Given the description of an element on the screen output the (x, y) to click on. 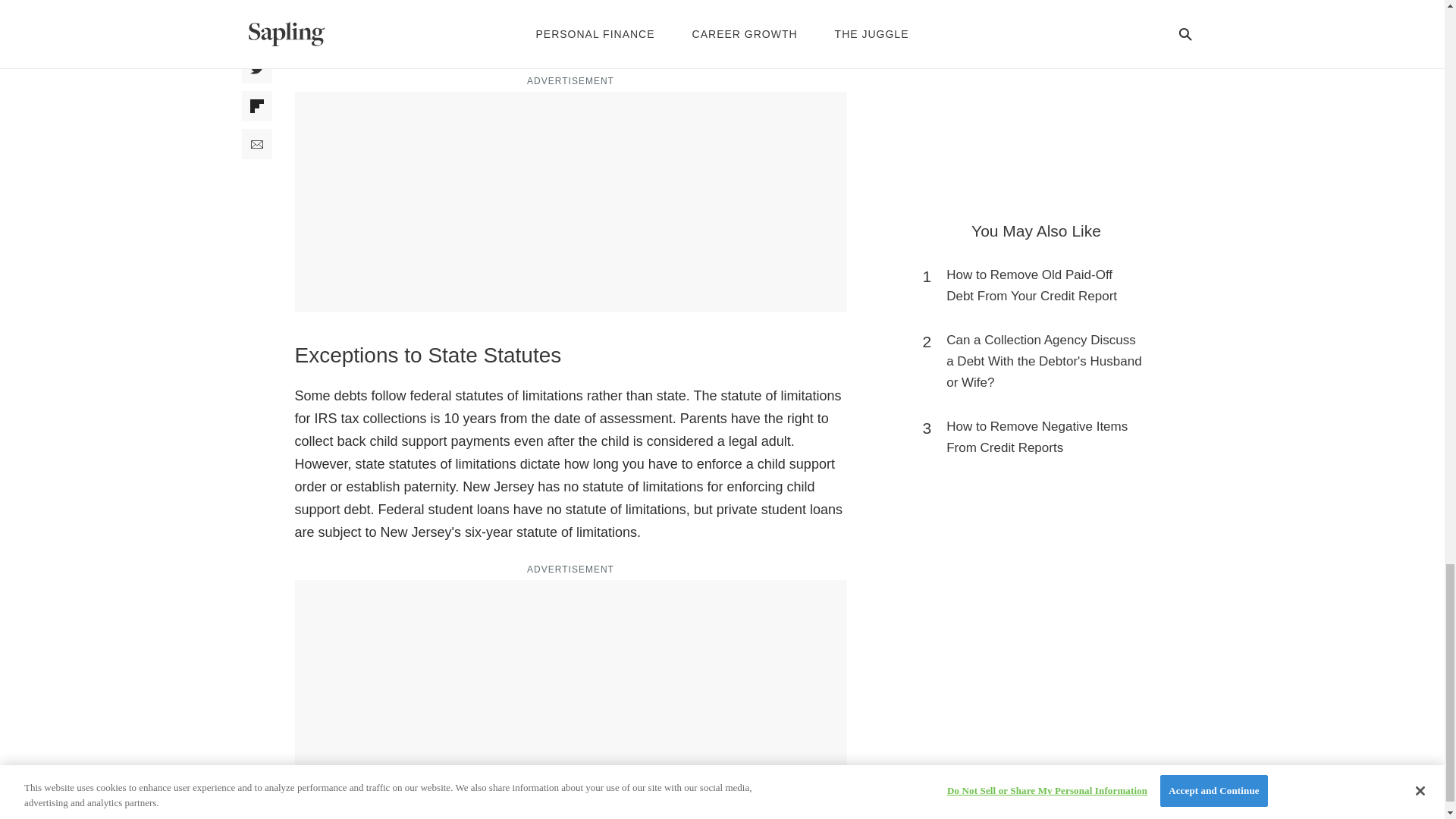
How to Remove Old Paid-Off Debt From Your Credit Report (1043, 285)
How to Remove Negative Items From Credit Reports (1043, 437)
